Given the description of an element on the screen output the (x, y) to click on. 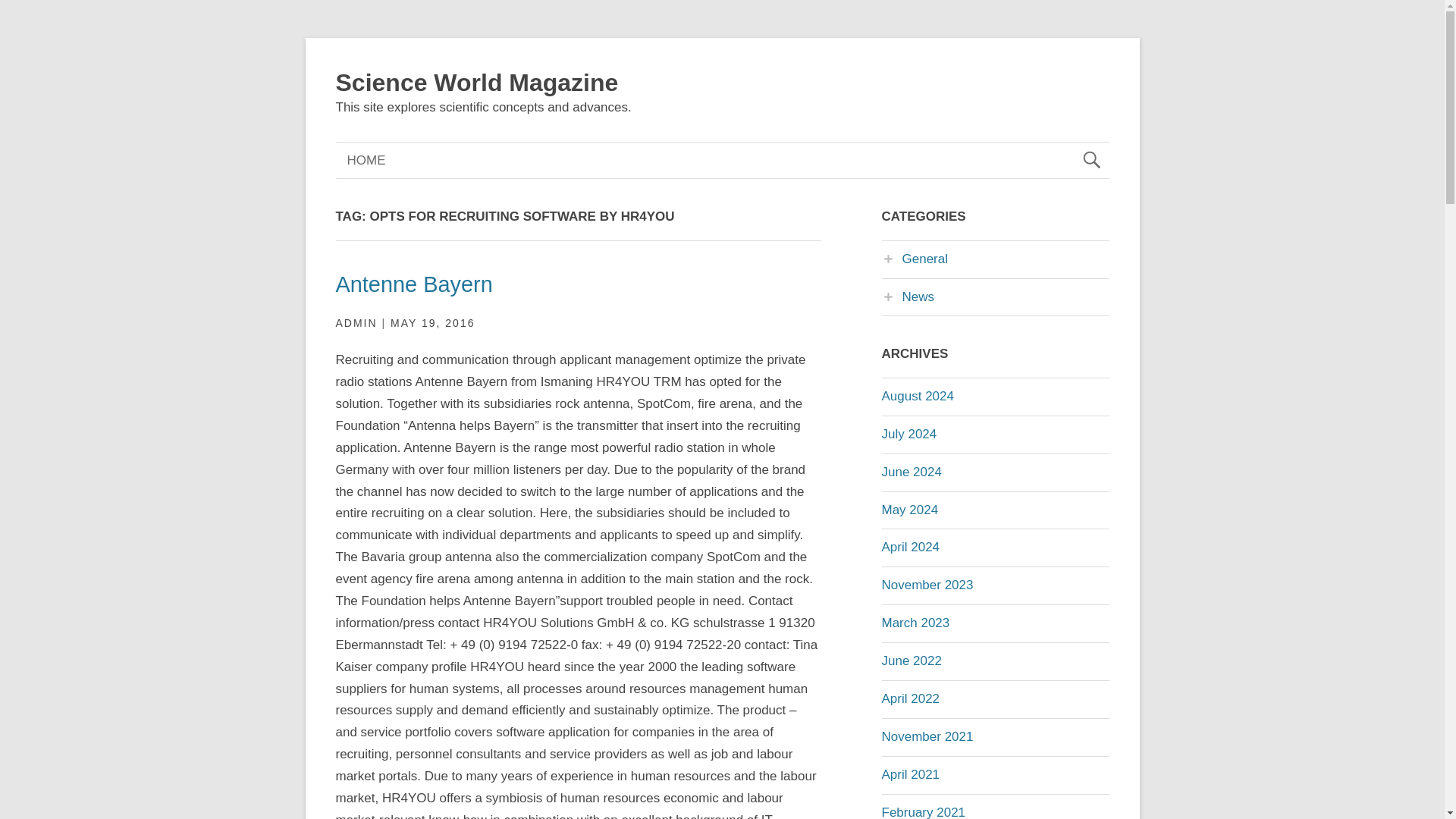
July 2024 (908, 433)
Posts by admin (355, 322)
ADMIN (355, 322)
June 2022 (910, 660)
Science World Magazine (475, 82)
August 2024 (916, 396)
General (913, 259)
News (907, 297)
May 2024 (908, 509)
MAY 19, 2016 (432, 322)
